Given the description of an element on the screen output the (x, y) to click on. 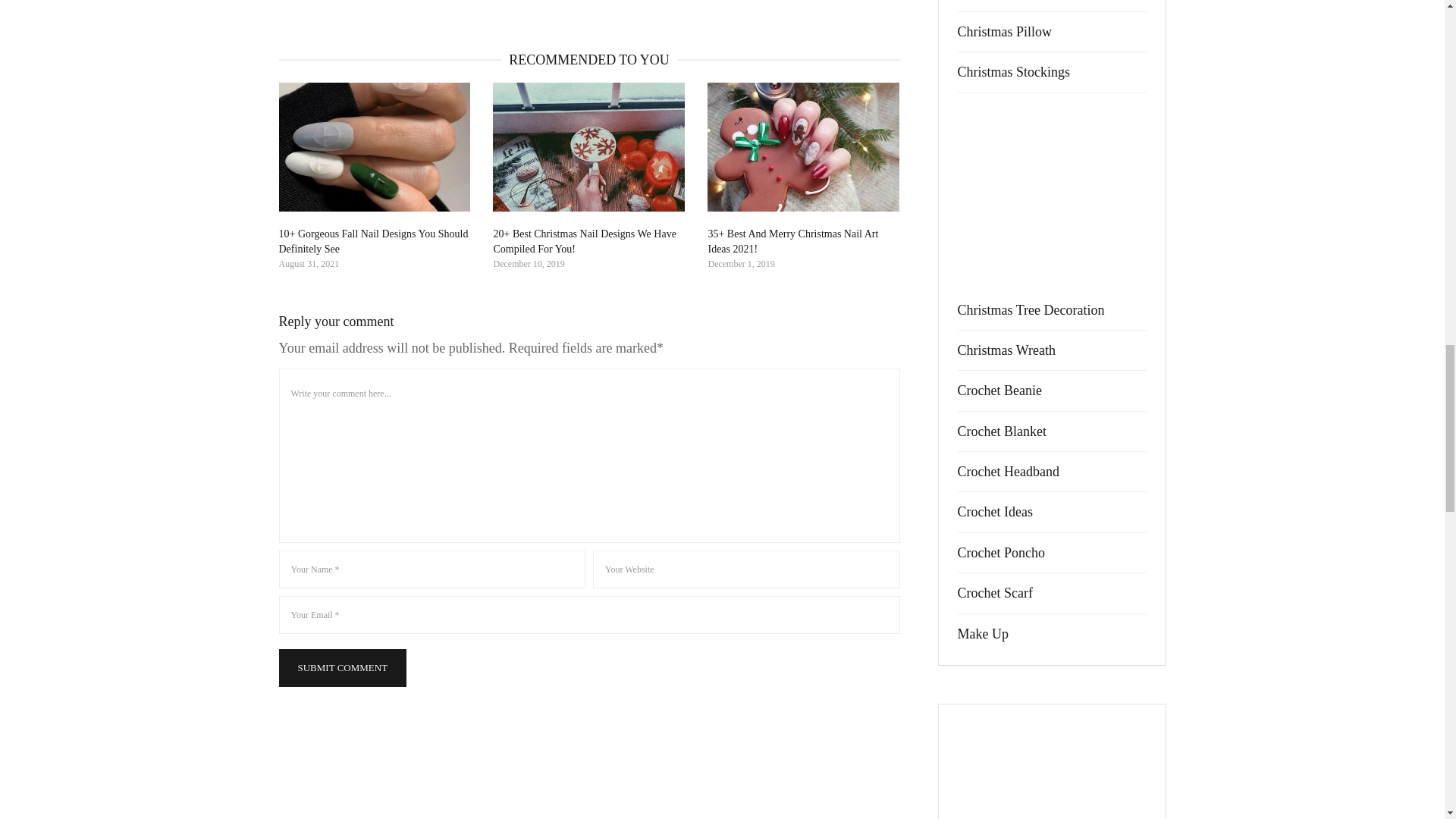
Submit Comment (343, 668)
Advertisement (1050, 775)
Advertisement (1050, 199)
